Given the description of an element on the screen output the (x, y) to click on. 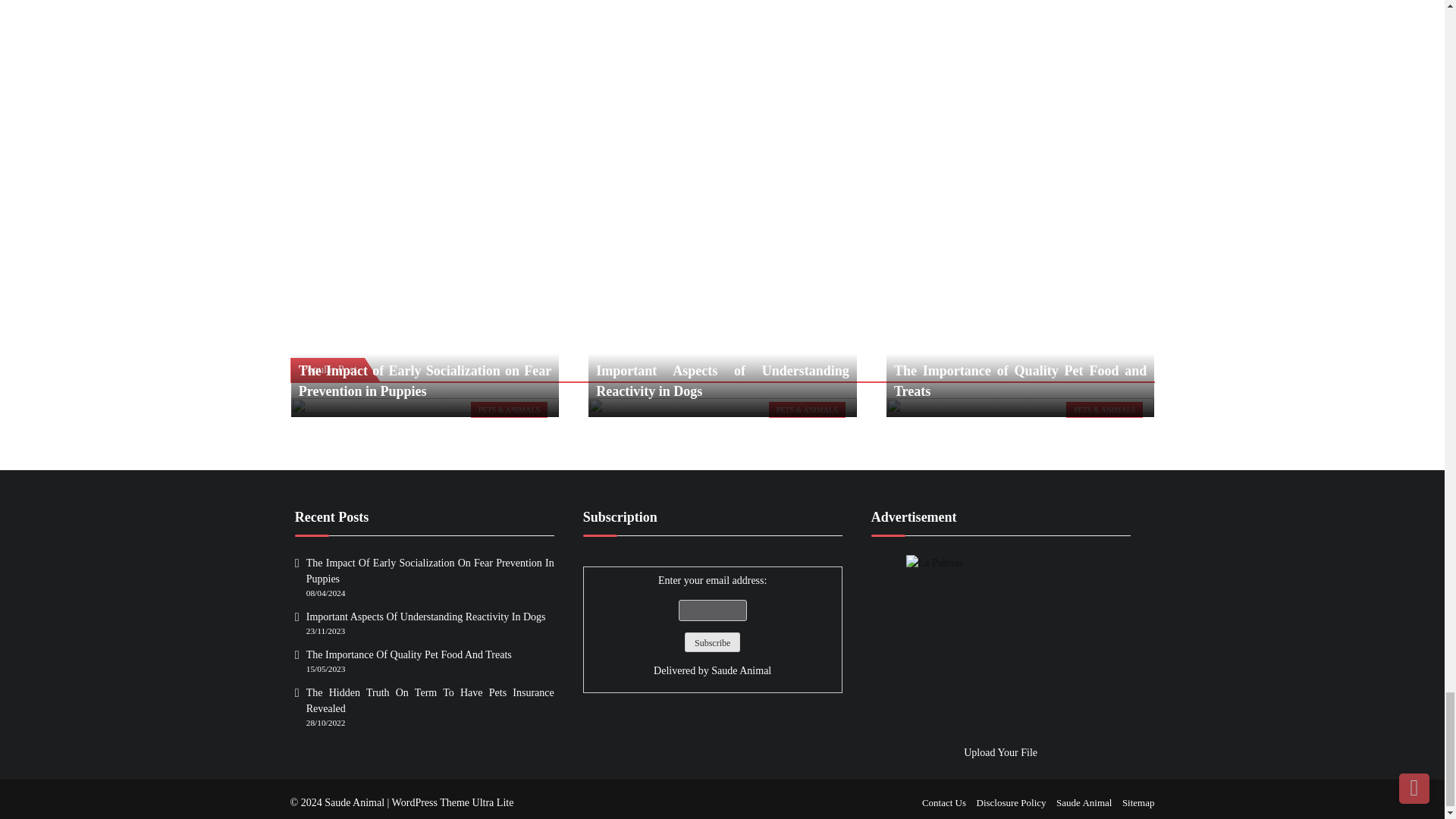
Subscribe (711, 641)
